Given the description of an element on the screen output the (x, y) to click on. 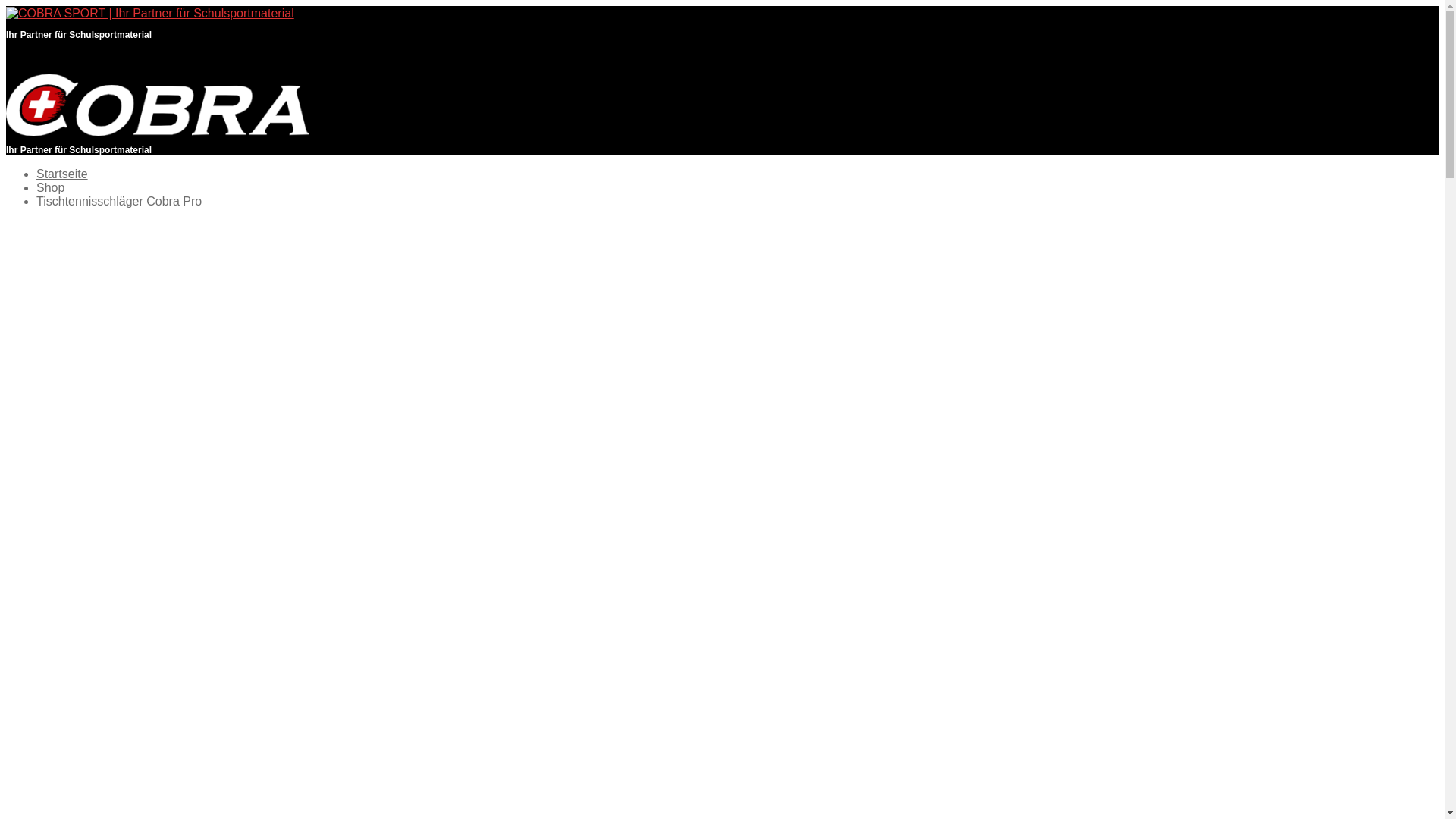
Zum Inhalt springen Element type: text (6, 6)
Startseite Element type: text (61, 173)
Shop Element type: text (50, 187)
